Given the description of an element on the screen output the (x, y) to click on. 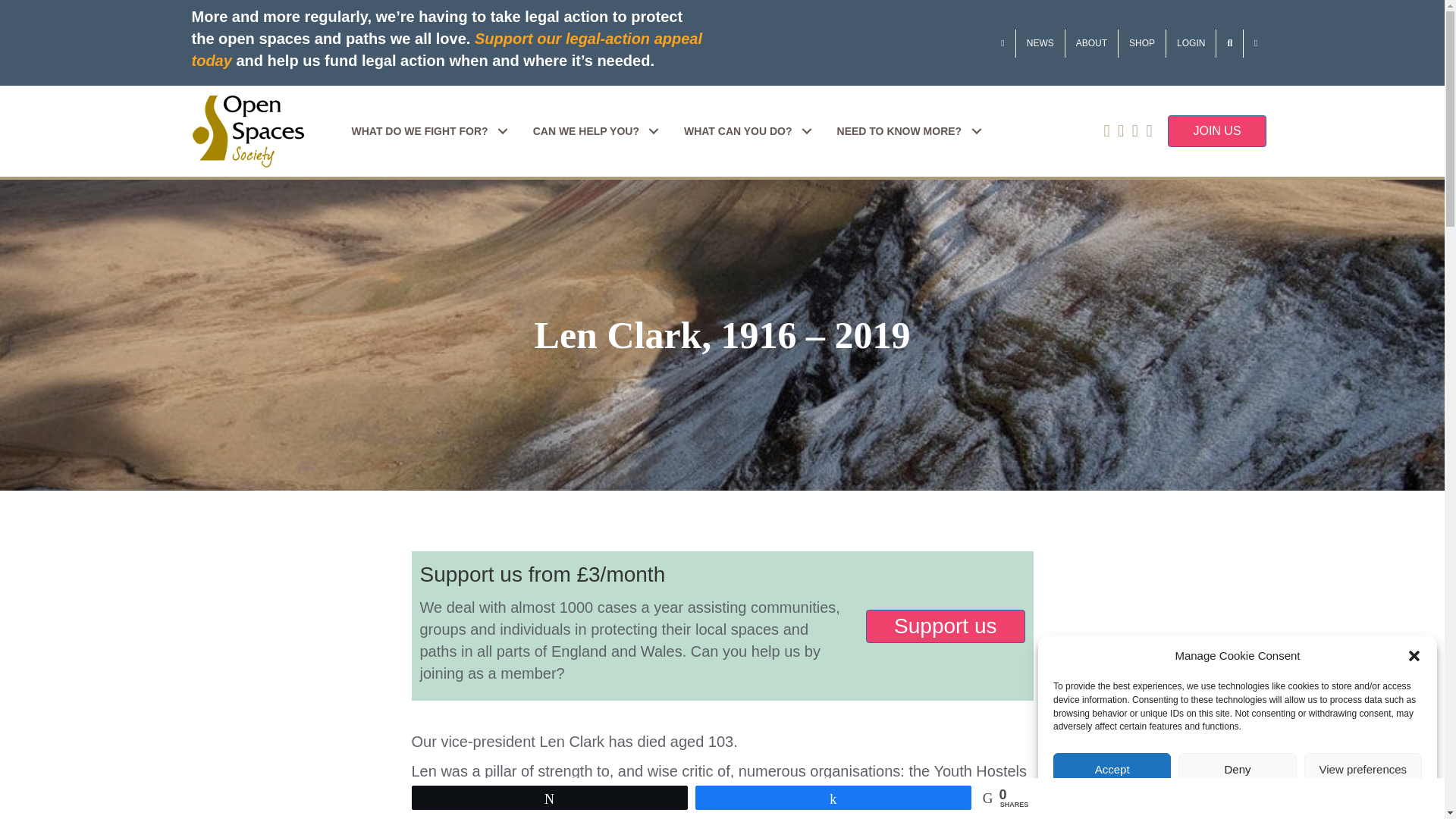
Search (1229, 43)
SHOP (1142, 43)
NEWS (1040, 43)
Support our legal-action appeal today (445, 49)
LOGIN (1190, 43)
Open Spaces Society Logo (247, 131)
ABOUT (1091, 43)
